Given the description of an element on the screen output the (x, y) to click on. 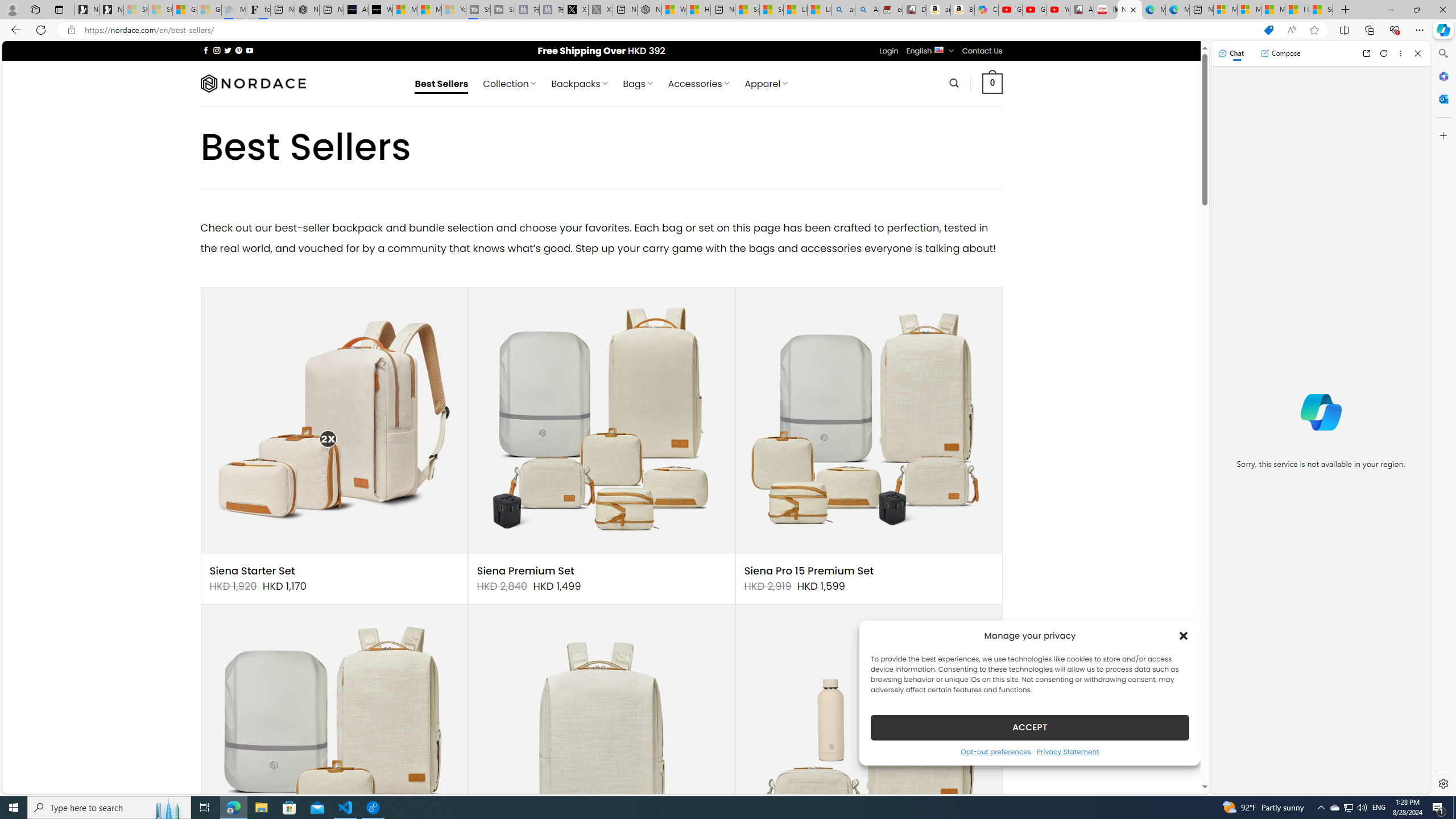
amazon.in/dp/B0CX59H5W7/?tag=gsmcom05-21 (938, 9)
Privacy Statement (1067, 750)
Copilot (986, 9)
ACCEPT (1029, 727)
